Given the description of an element on the screen output the (x, y) to click on. 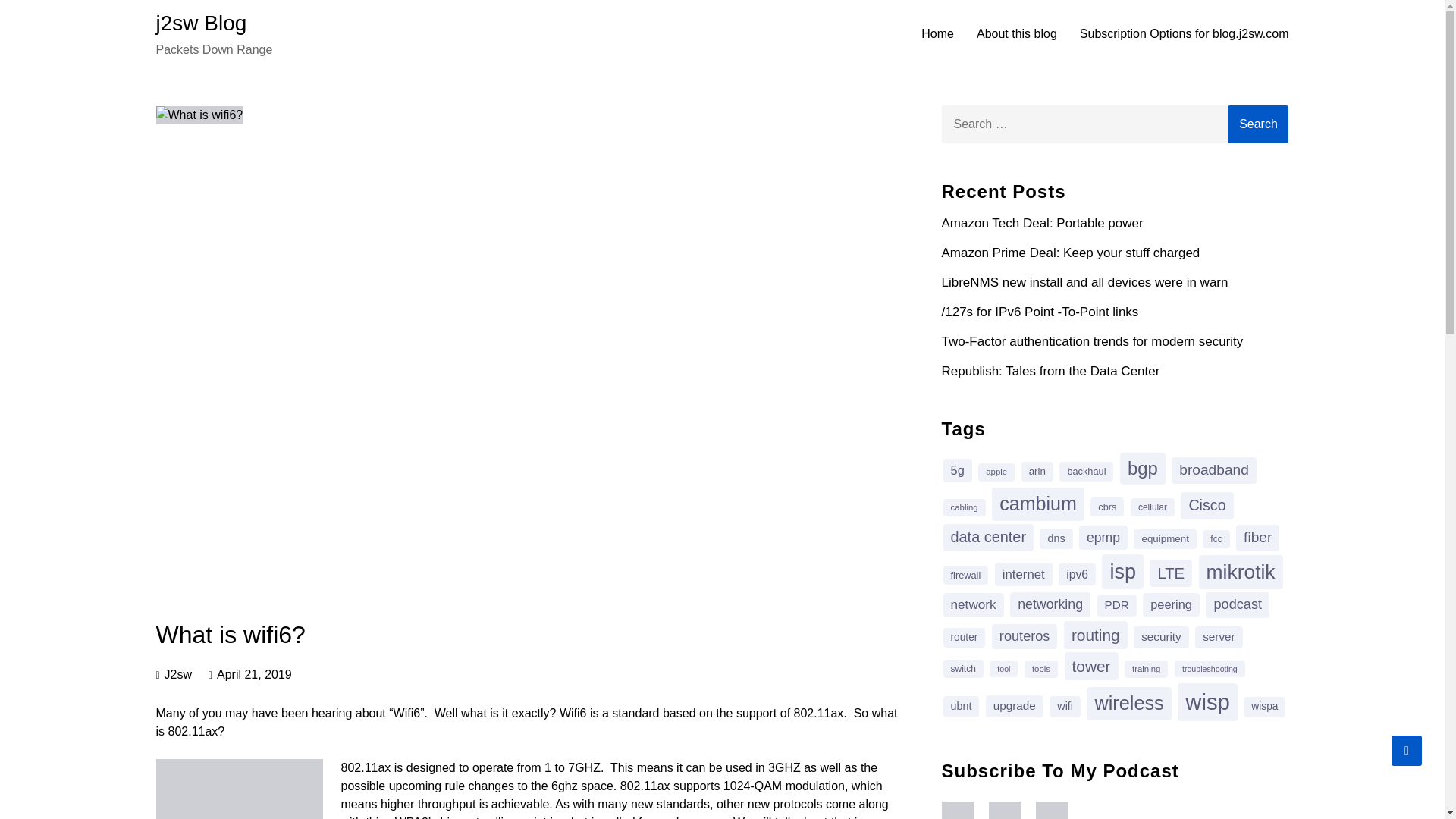
j2sw Blog (201, 23)
Subscription Options for blog.j2sw.com (1184, 34)
cellular (1152, 506)
Amazon Prime Deal: Keep your stuff charged (1070, 252)
backhaul (1086, 470)
Republish: Tales from the Data Center (1051, 370)
Amazon Tech Deal: Portable power (1042, 223)
cbrs (1107, 506)
arin (1037, 471)
5g (957, 470)
